Given the description of an element on the screen output the (x, y) to click on. 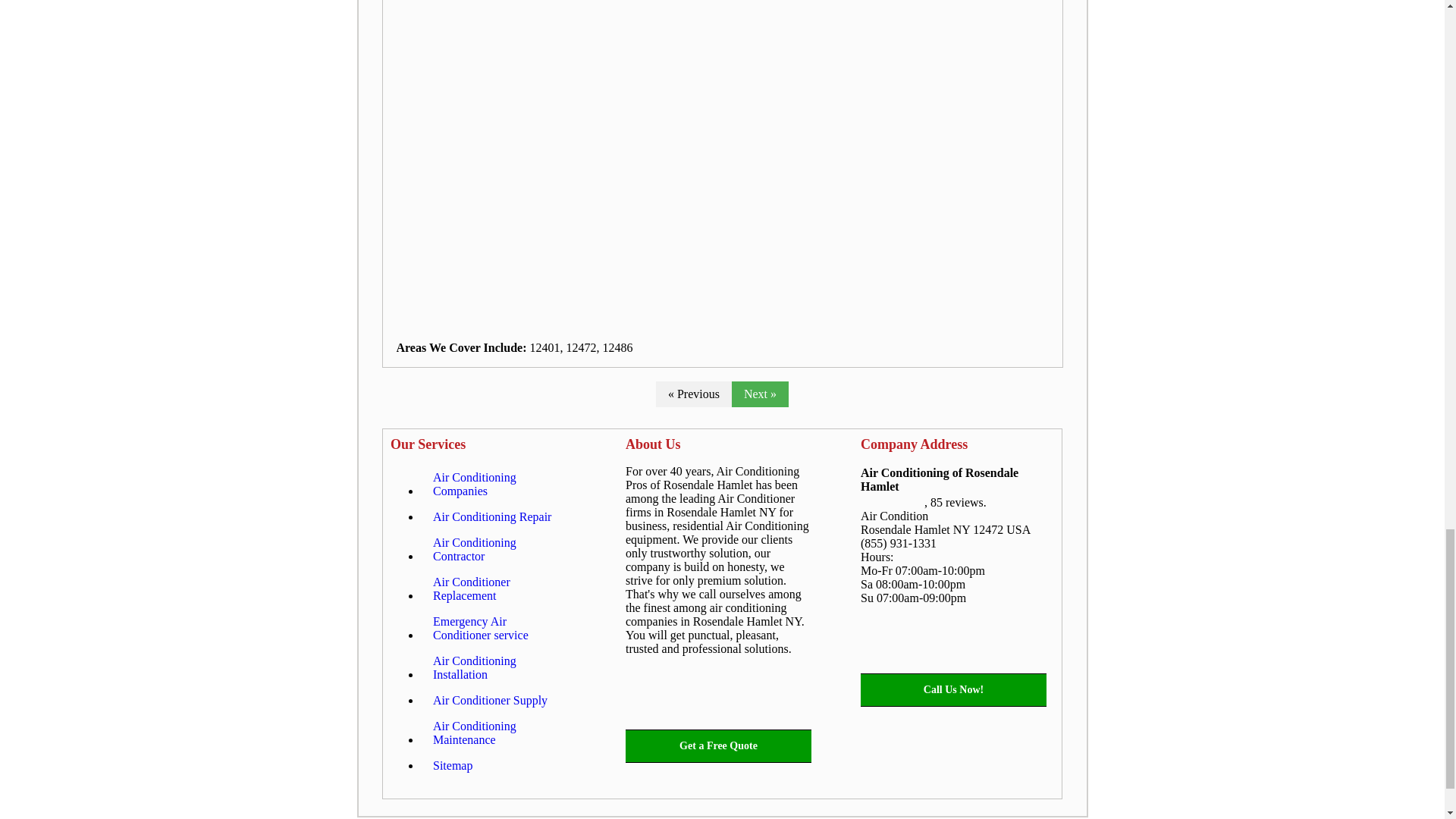
Air Conditioning Companies (498, 484)
Sitemap (452, 765)
Get a Free Quote (718, 745)
Air Conditioning Installation (498, 667)
Air Conditioner Supply (489, 700)
Air Conditioning Contractor (498, 549)
Call Us Now! (953, 689)
Air Conditioning Maintenance (498, 732)
Air Conditioning Repair (491, 516)
Emergency Air Conditioner service (498, 628)
